Given the description of an element on the screen output the (x, y) to click on. 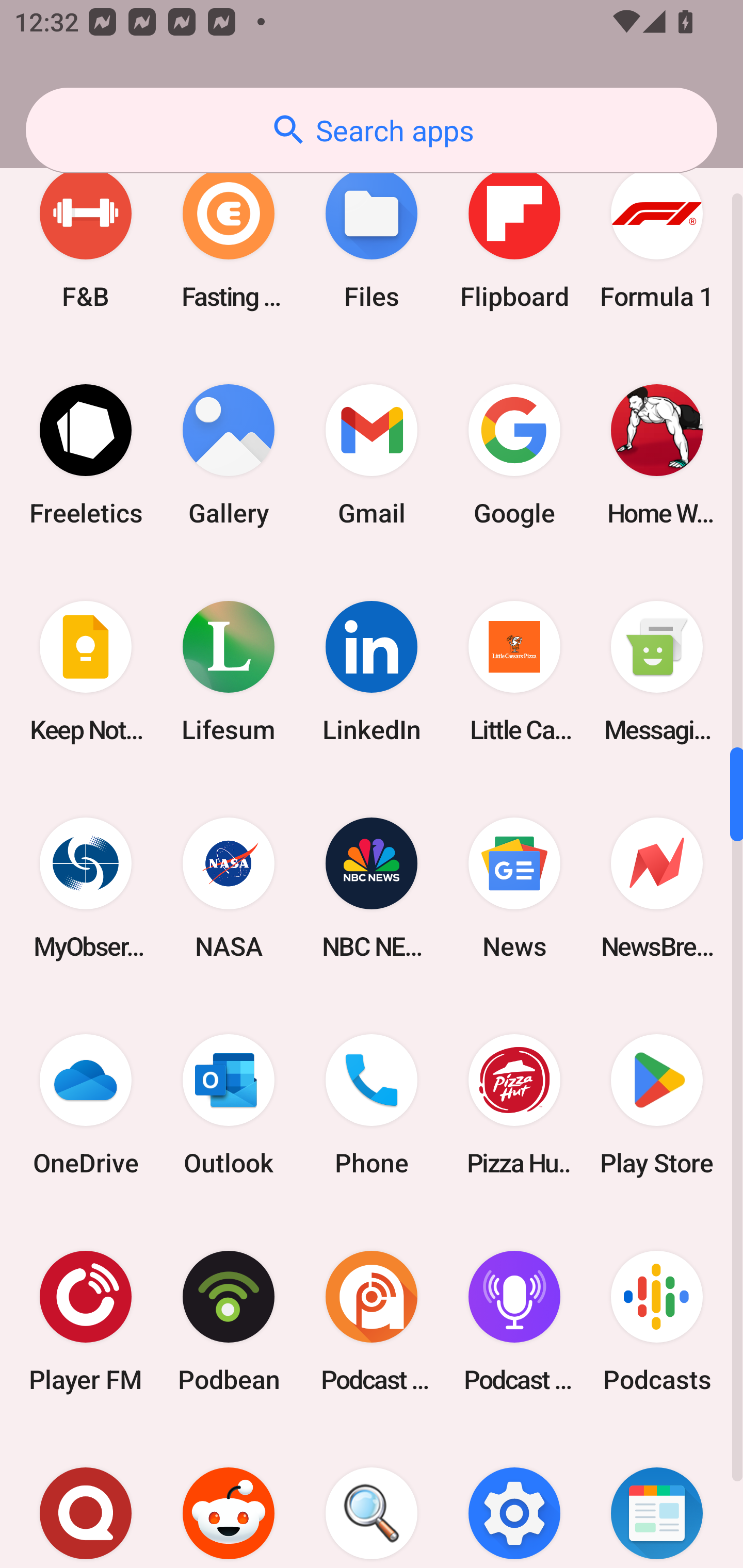
  Search apps (371, 130)
F&B (85, 238)
Fasting Coach (228, 238)
Files (371, 238)
Flipboard (514, 238)
Formula 1 (656, 238)
Freeletics (85, 454)
Gallery (228, 454)
Gmail (371, 454)
Google (514, 454)
Home Workout (656, 454)
Keep Notes (85, 670)
Lifesum (228, 670)
LinkedIn (371, 670)
Little Caesars Pizza (514, 670)
Messaging (656, 670)
MyObservatory (85, 888)
NASA (228, 888)
NBC NEWS (371, 888)
News (514, 888)
NewsBreak (656, 888)
OneDrive (85, 1105)
Outlook (228, 1105)
Phone (371, 1105)
Pizza Hut HK & Macau (514, 1105)
Play Store (656, 1105)
Player FM (85, 1321)
Podbean (228, 1321)
Podcast Addict (371, 1321)
Podcast Player (514, 1321)
Podcasts (656, 1321)
Quora (85, 1499)
Reddit (228, 1499)
Search (371, 1499)
Settings (514, 1499)
SmartNews (656, 1499)
